Given the description of an element on the screen output the (x, y) to click on. 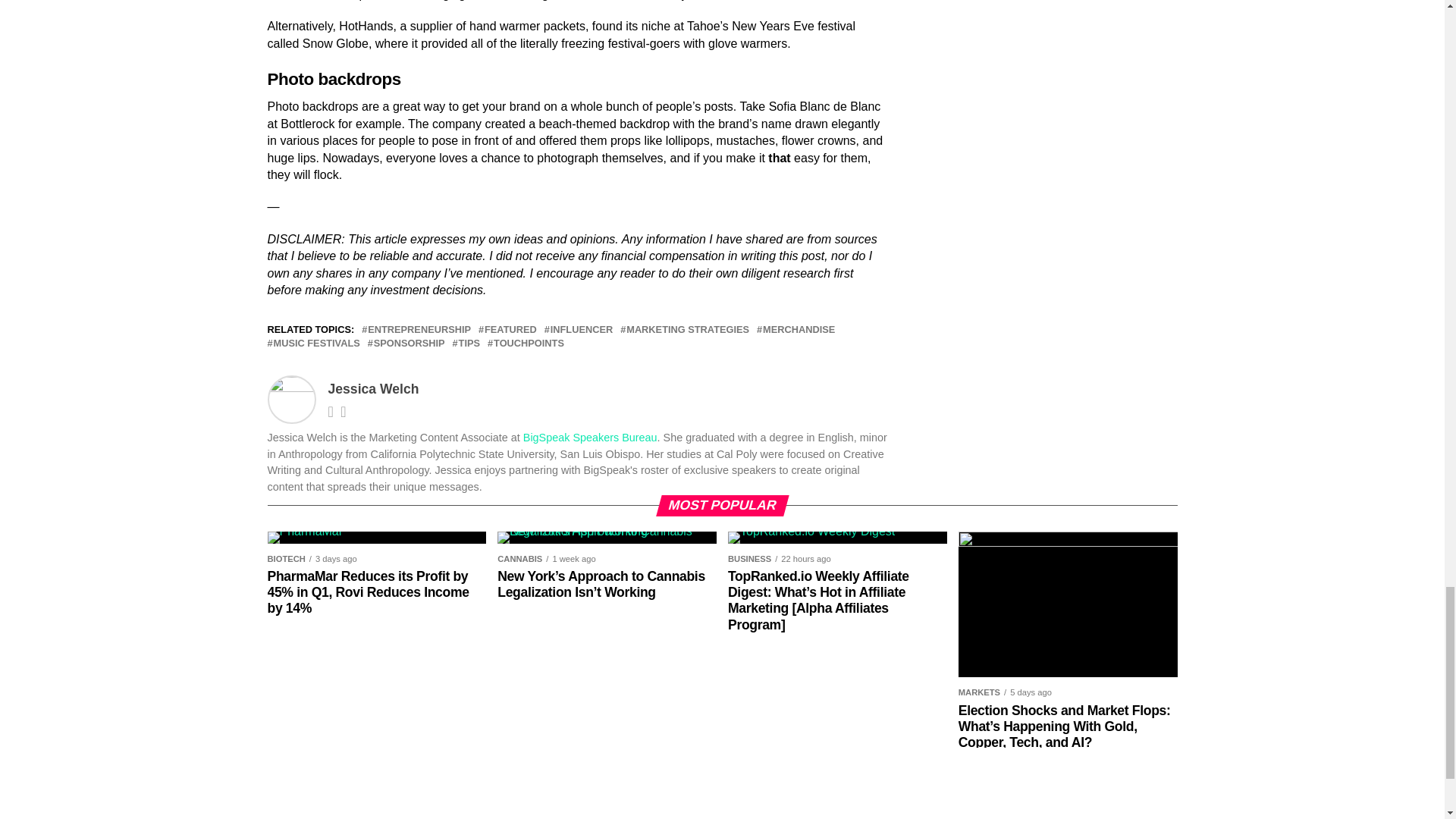
Posts by Jessica Welch (373, 388)
FEATURED (510, 329)
MUSIC FESTIVALS (316, 343)
MARKETING STRATEGIES (687, 329)
ENTREPRENEURSHIP (419, 329)
INFLUENCER (581, 329)
MERCHANDISE (798, 329)
